Given the description of an element on the screen output the (x, y) to click on. 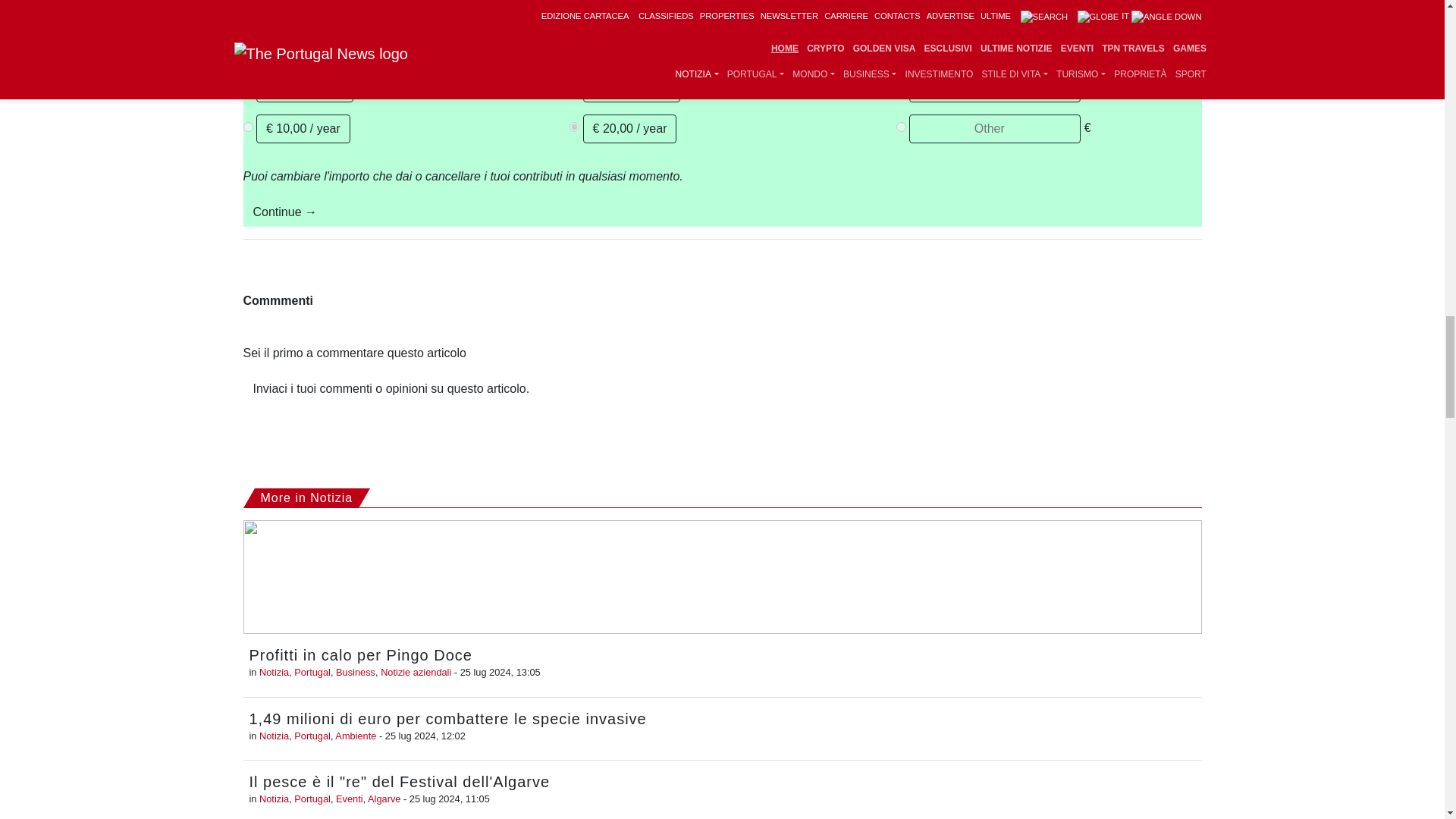
10 (247, 44)
10 (247, 126)
5 (574, 85)
2.5 (247, 85)
20 (574, 44)
20 (574, 126)
P-6T2758016F920900CMGGQYMQ (574, 1)
